Given the description of an element on the screen output the (x, y) to click on. 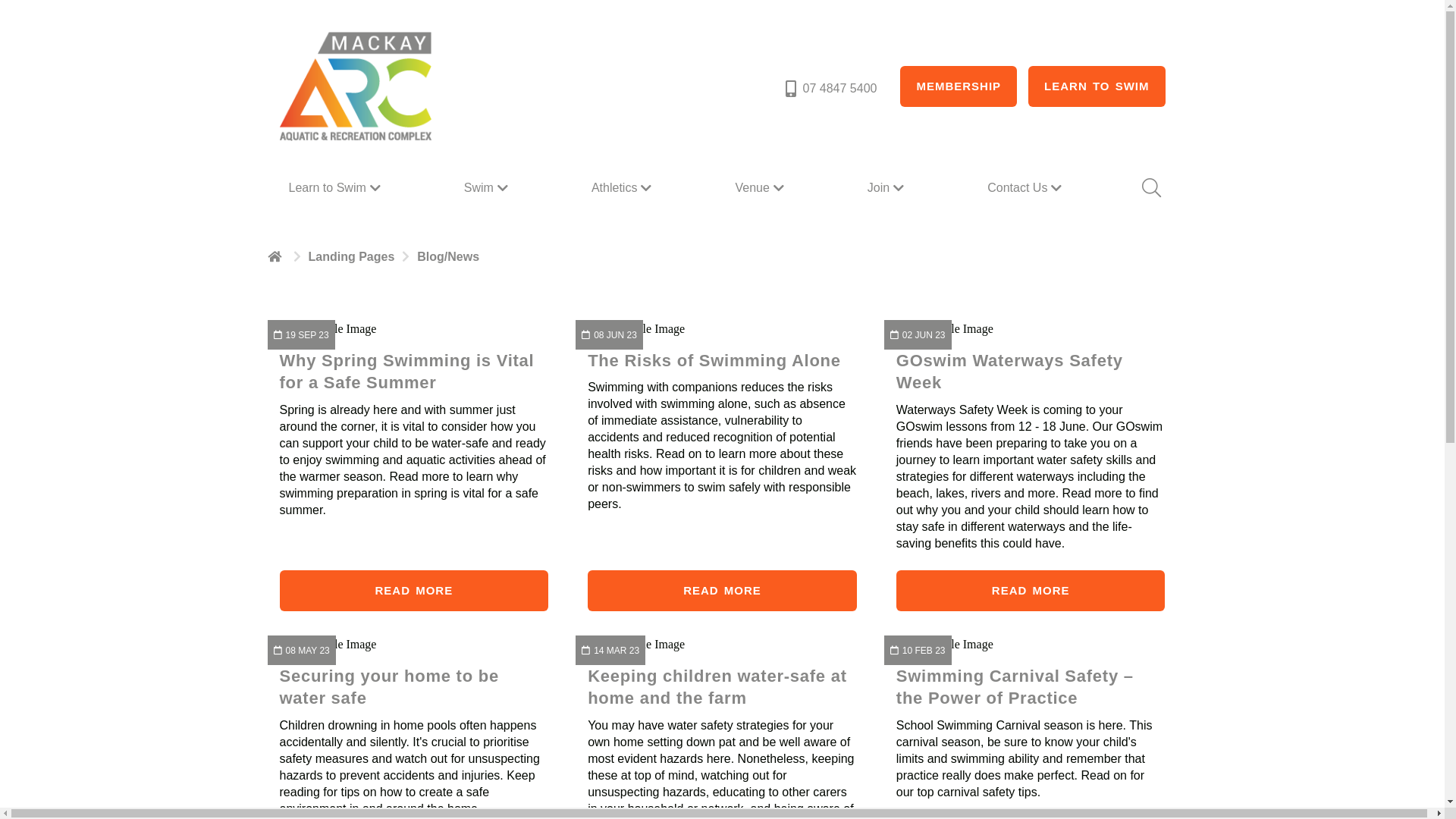
  Element type: text (275, 256)
Search Element type: text (1150, 188)
07 4847 5400 Element type: text (829, 88)
Athletics Element type: text (623, 187)
Learn to Swim Element type: text (335, 187)
Venue Element type: text (760, 187)
LEARN TO SWIM Element type: text (1096, 85)
Contact Us Element type: text (1026, 187)
READ MORE Element type: text (721, 590)
READ MORE Element type: text (413, 590)
MEMBERSHIP Element type: text (958, 85)
Swim Element type: text (487, 187)
Join Element type: text (887, 187)
READ MORE Element type: text (1030, 590)
